Given the description of an element on the screen output the (x, y) to click on. 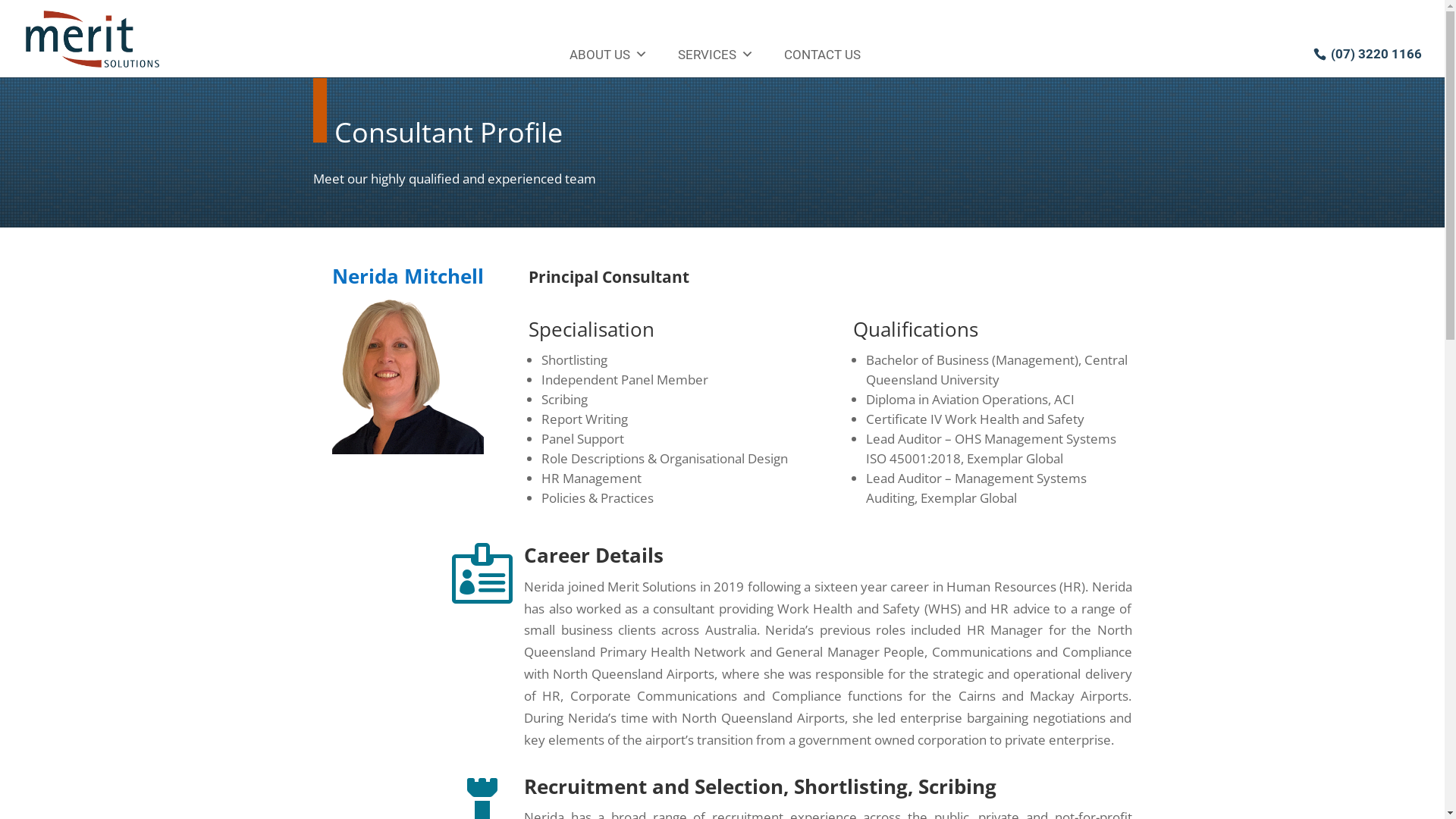
ABOUT US Element type: text (607, 54)
CONTACT US Element type: text (822, 54)
Nerida_Mitchell Element type: hover (407, 376)
SERVICES Element type: text (715, 54)
